Given the description of an element on the screen output the (x, y) to click on. 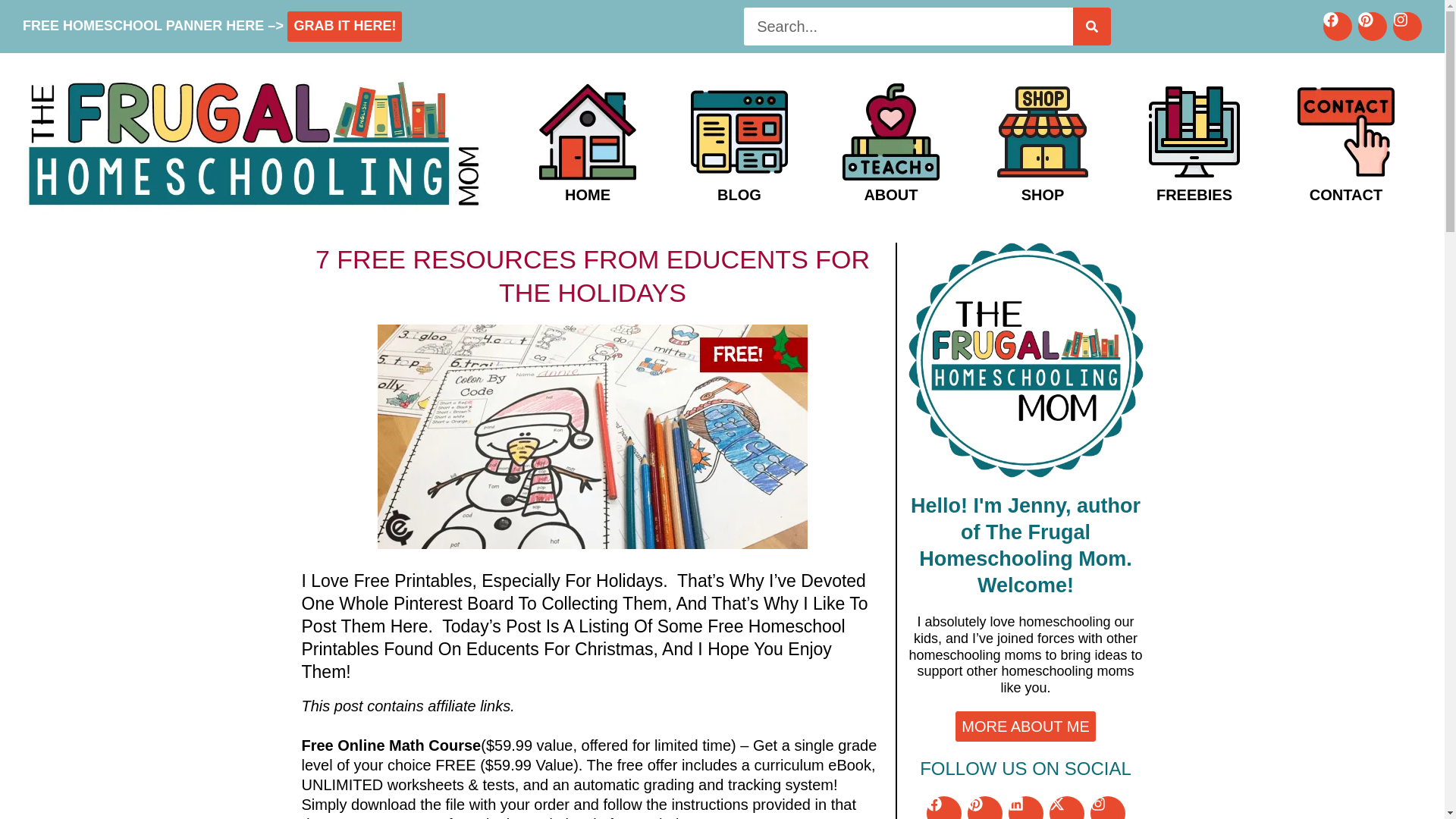
MORE ABOUT ME (1025, 726)
GRAB IT HERE! (343, 24)
GRAB IT HERE! (343, 25)
DOWNLOAD HERE! (343, 24)
